Given the description of an element on the screen output the (x, y) to click on. 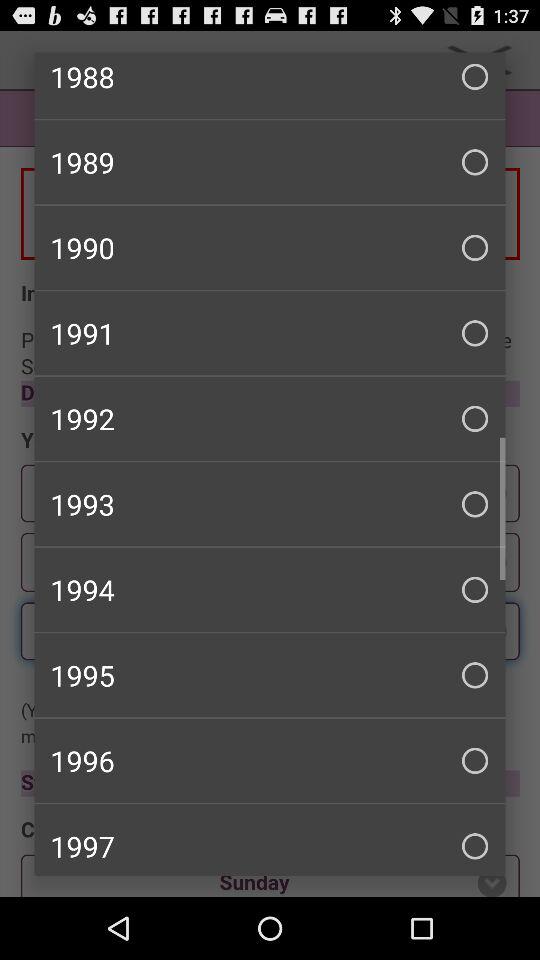
select the checkbox above the 1991 checkbox (269, 247)
